Given the description of an element on the screen output the (x, y) to click on. 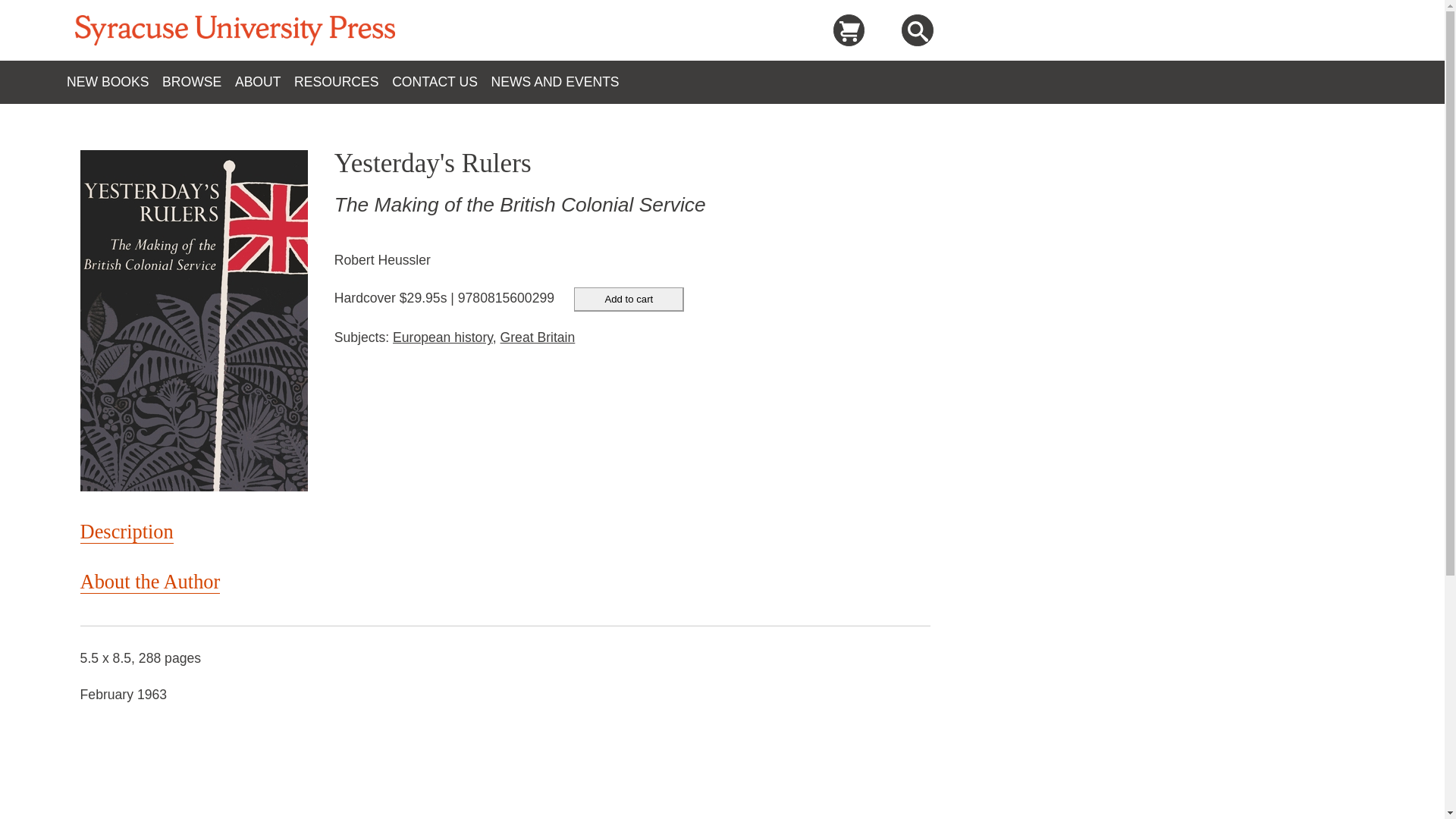
open cartGo to cart (850, 31)
open cartGo to cart (848, 29)
NEW BOOKS (113, 82)
CONTACT US (440, 82)
BROWSE (197, 82)
About the Author (150, 581)
NEWS AND EVENTS (560, 82)
site searchSearch the site (917, 31)
site searchSearch the site (917, 29)
European history (443, 337)
